Given the description of an element on the screen output the (x, y) to click on. 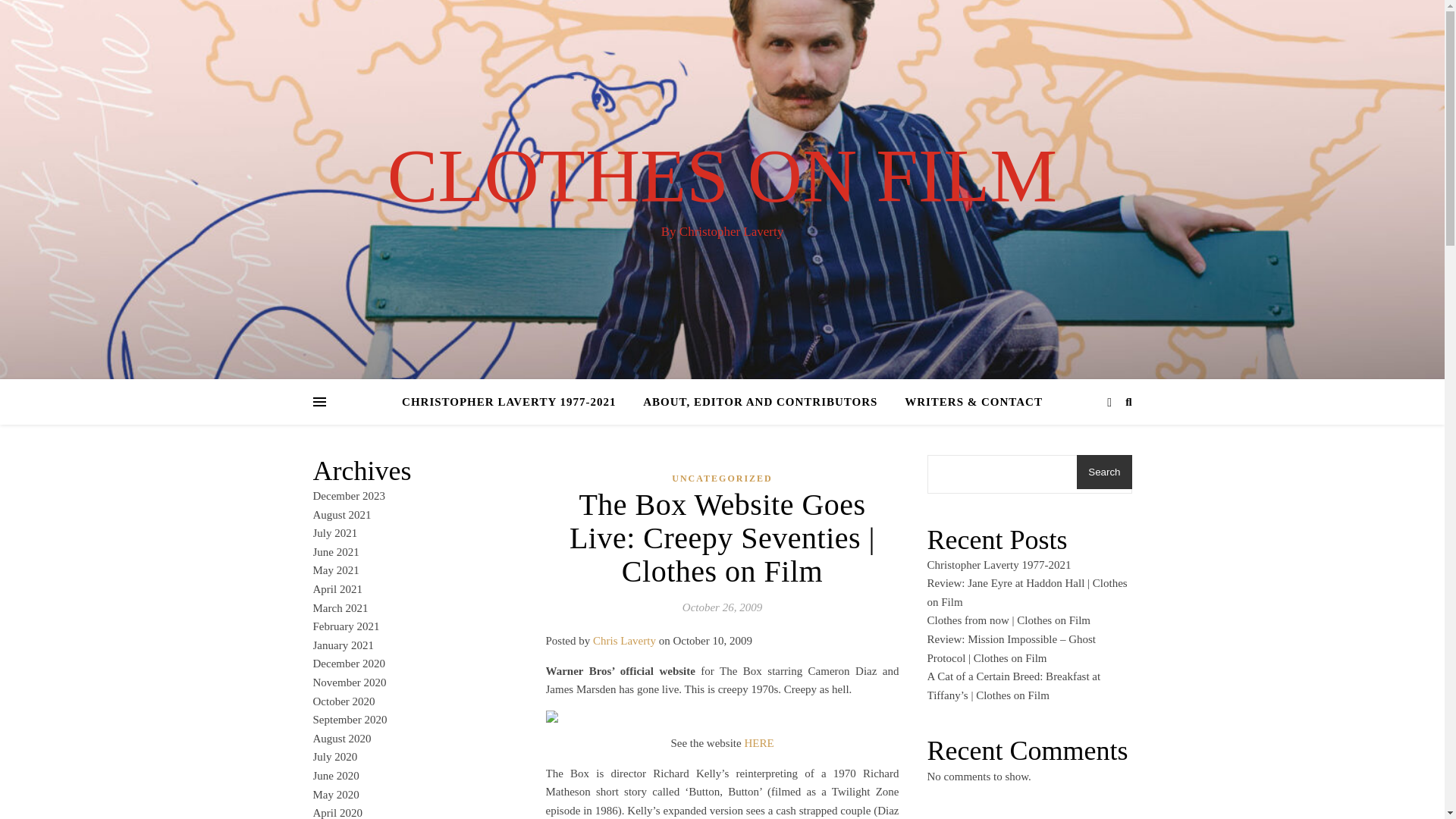
ABOUT, EDITOR AND CONTRIBUTORS (759, 402)
CHRISTOPHER LAVERTY 1977-2021 (514, 402)
